Given the description of an element on the screen output the (x, y) to click on. 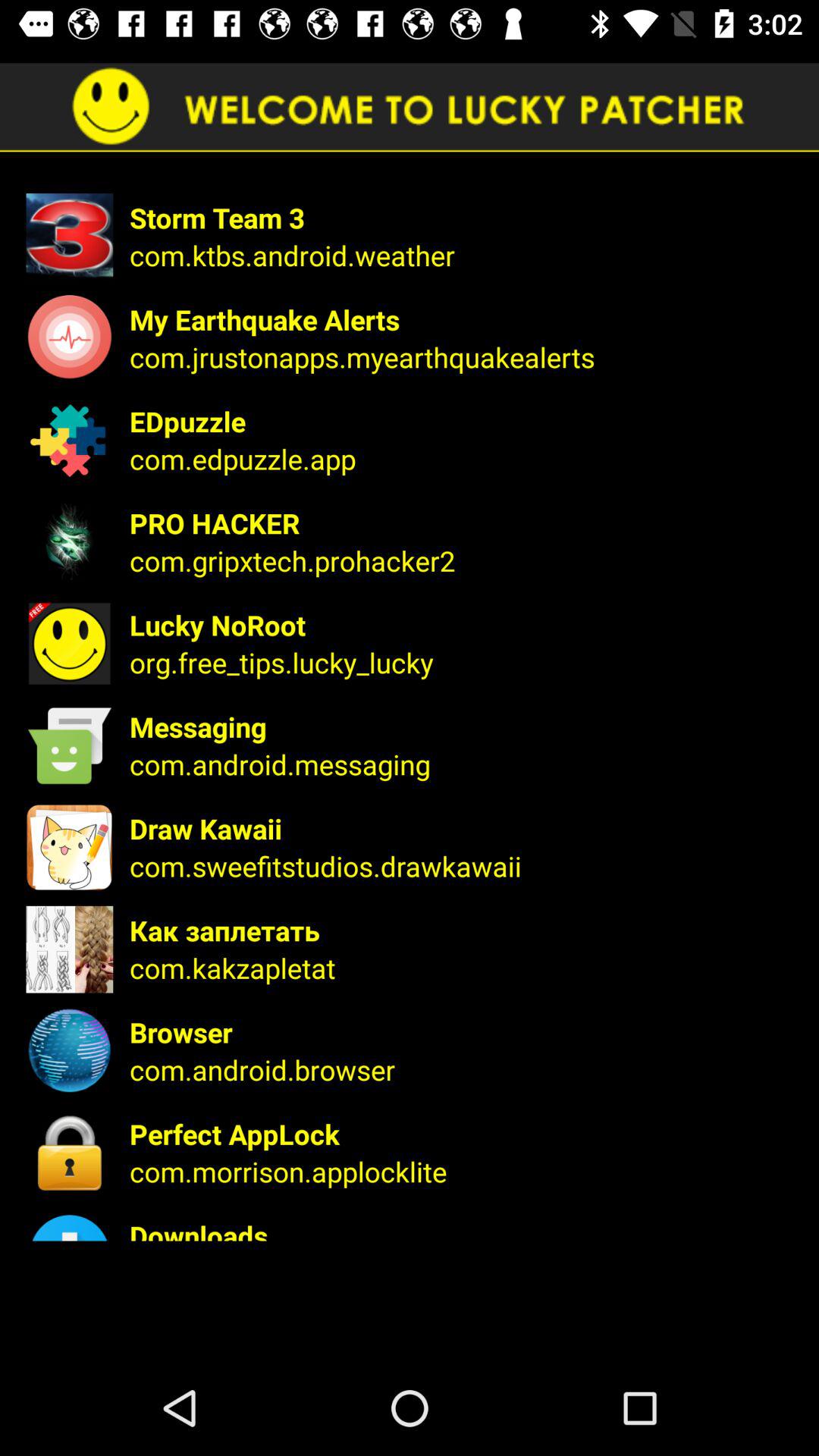
tap icon above the com ktbs android item (464, 217)
